Given the description of an element on the screen output the (x, y) to click on. 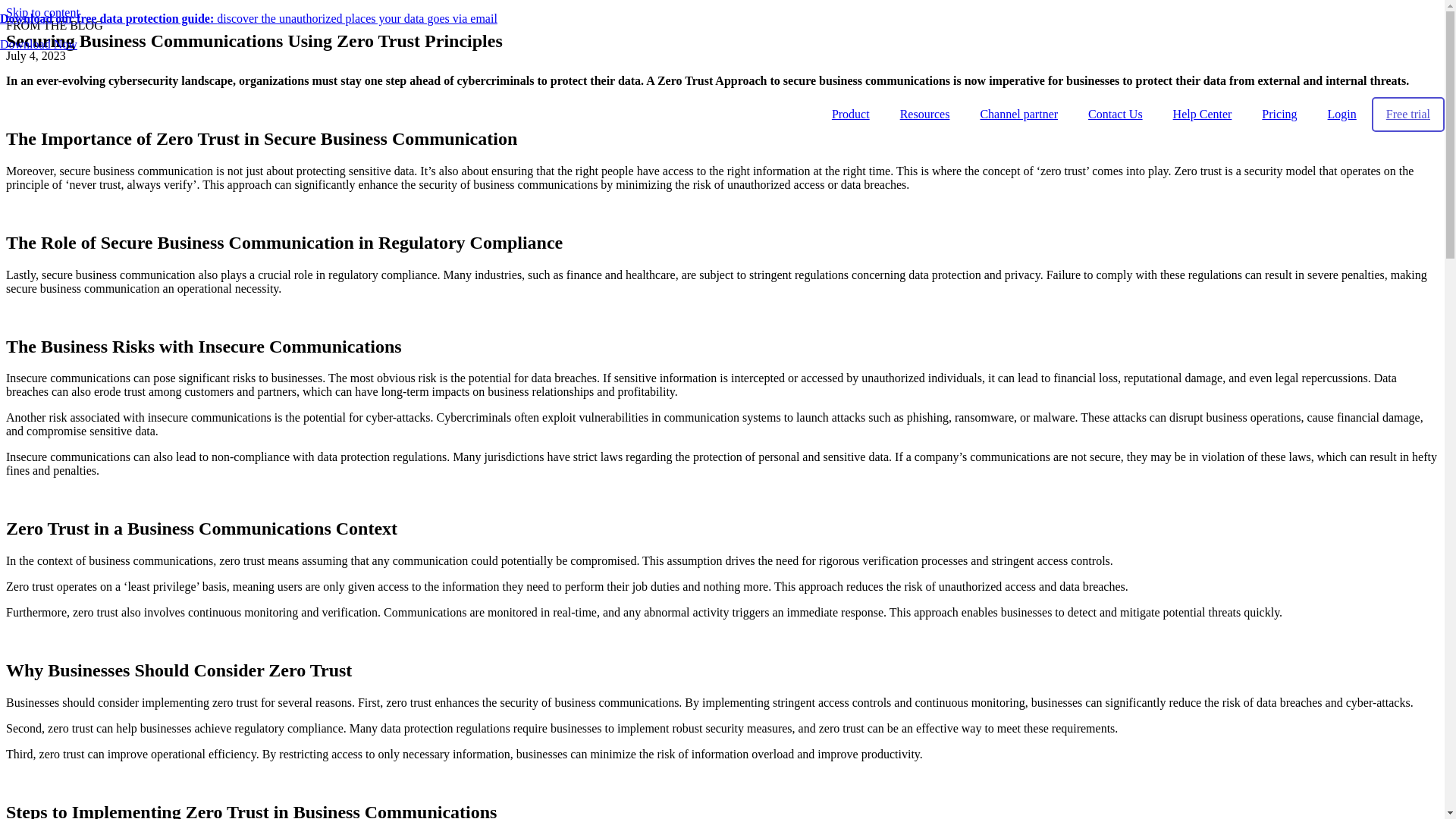
Channel partner (1018, 114)
Skip to content (42, 11)
Help Center (1202, 114)
Resources (925, 114)
Pricing (1278, 114)
Login (1342, 114)
Product (850, 114)
Download Now (38, 43)
Contact Us (1115, 114)
